Given the description of an element on the screen output the (x, y) to click on. 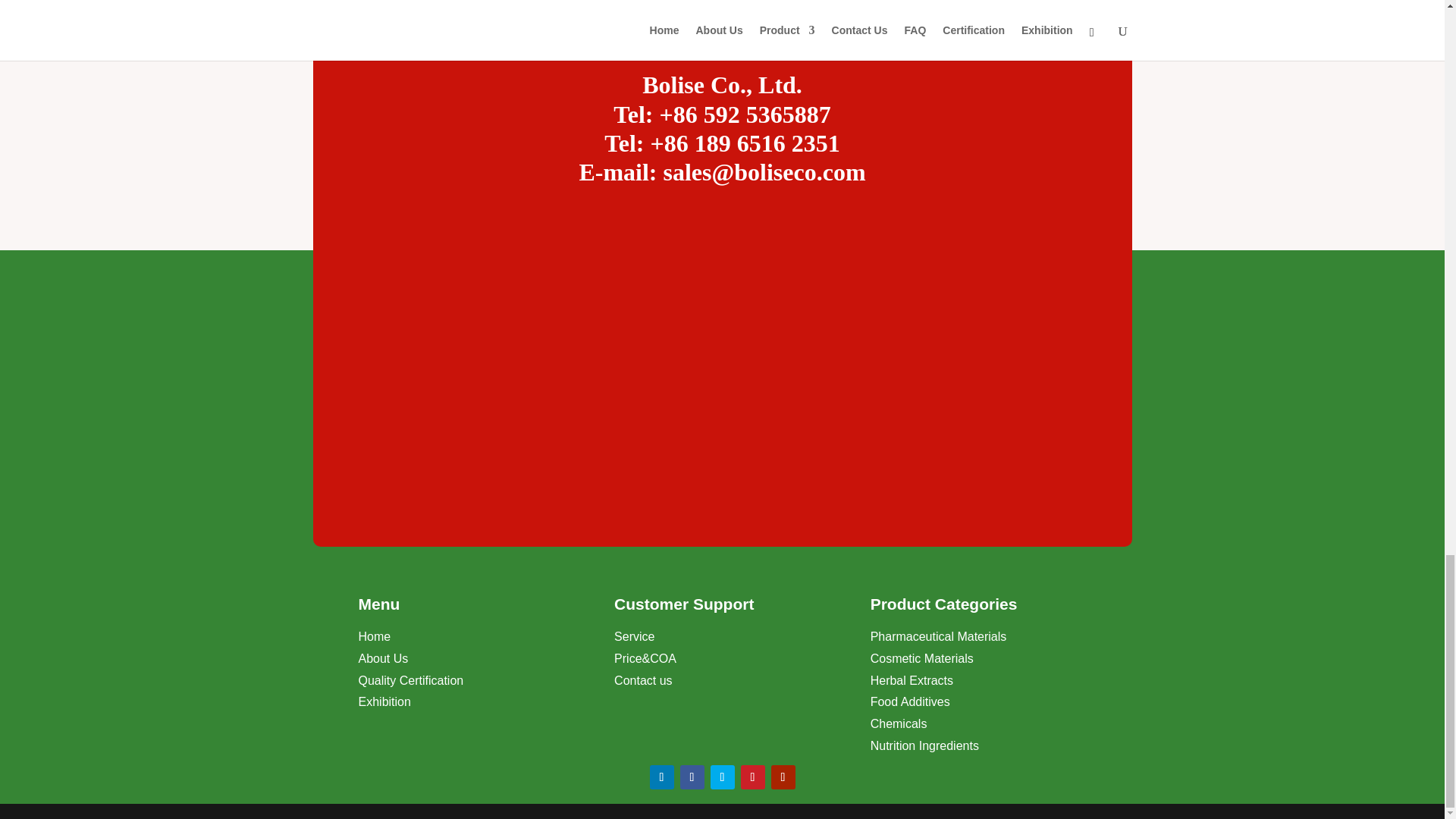
About Us (382, 658)
Service (633, 635)
Home (374, 635)
Follow on Facebook (691, 776)
Quality Certification (410, 680)
Follow on LinkedIn (660, 776)
Exhibition (384, 701)
Follow on Twitter (721, 776)
